Given the description of an element on the screen output the (x, y) to click on. 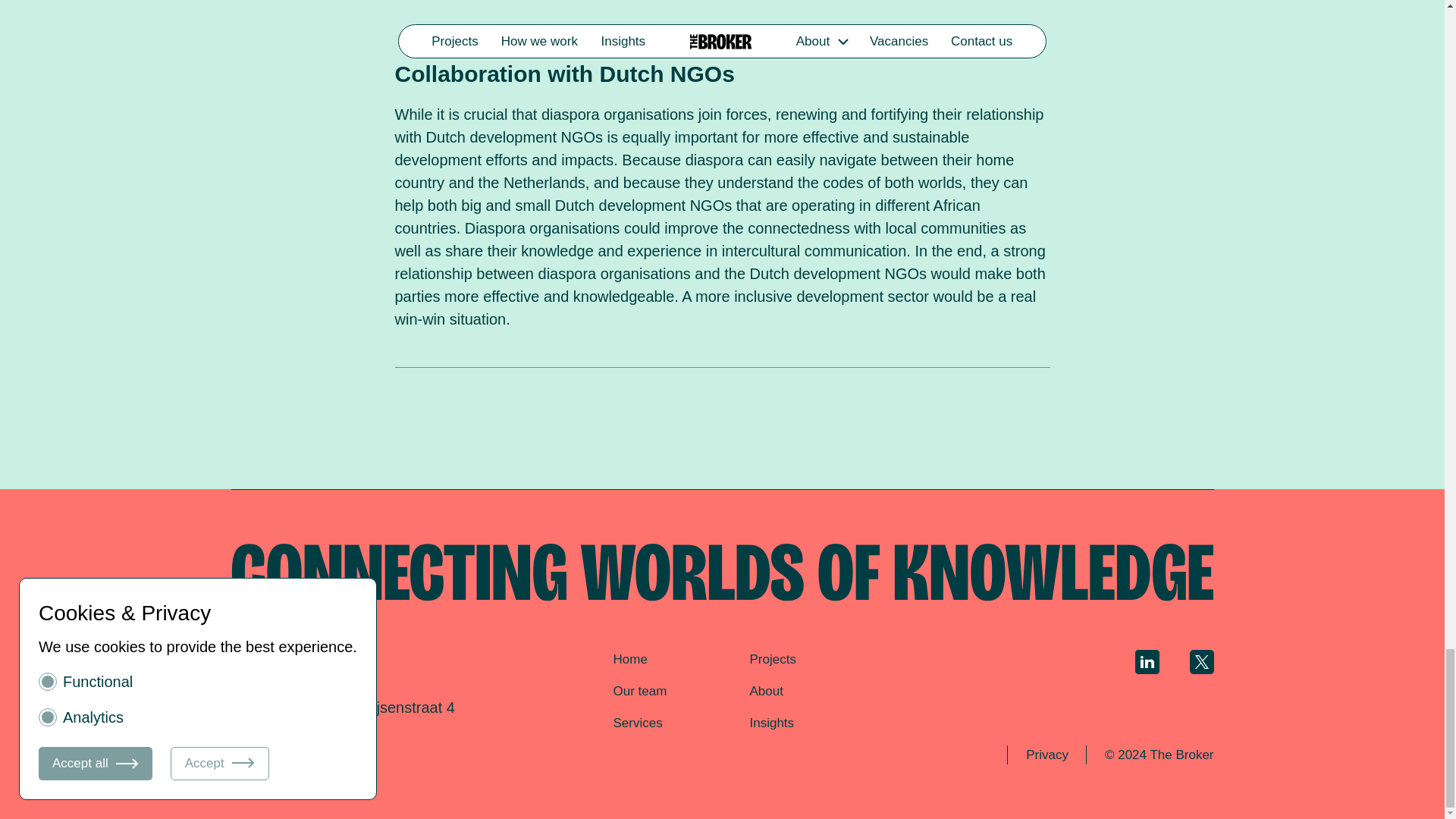
Insights (771, 722)
Privacy (1046, 754)
Home (629, 658)
Our team (639, 690)
About (766, 690)
Services (637, 722)
Projects (771, 658)
